Given the description of an element on the screen output the (x, y) to click on. 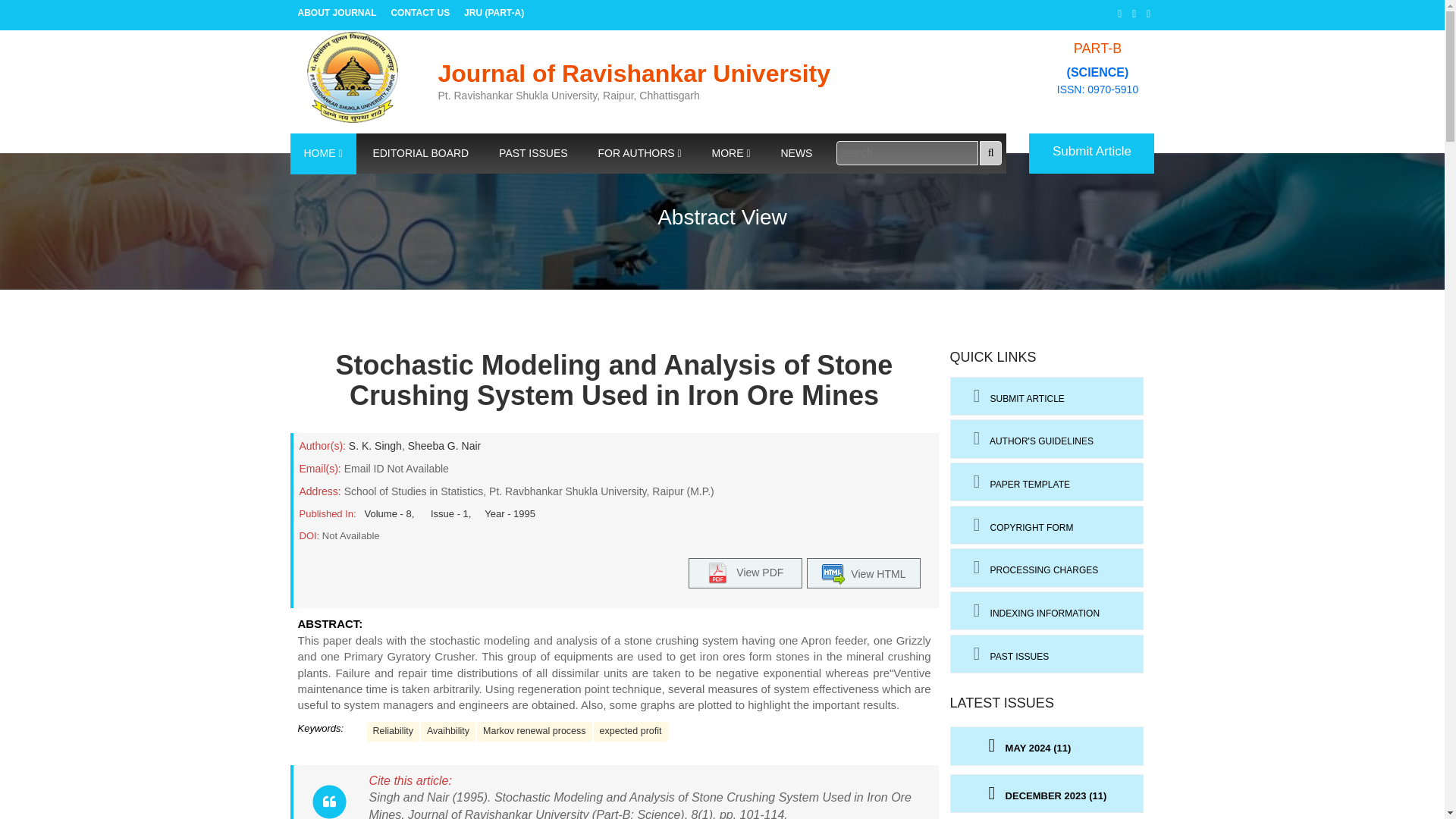
EDITORIAL BOARD (419, 153)
FOR AUTHORS (640, 153)
HOME (322, 153)
MORE (731, 153)
ABOUT JOURNAL (337, 13)
CONTACT US (419, 13)
PAST ISSUES (533, 153)
